Given the description of an element on the screen output the (x, y) to click on. 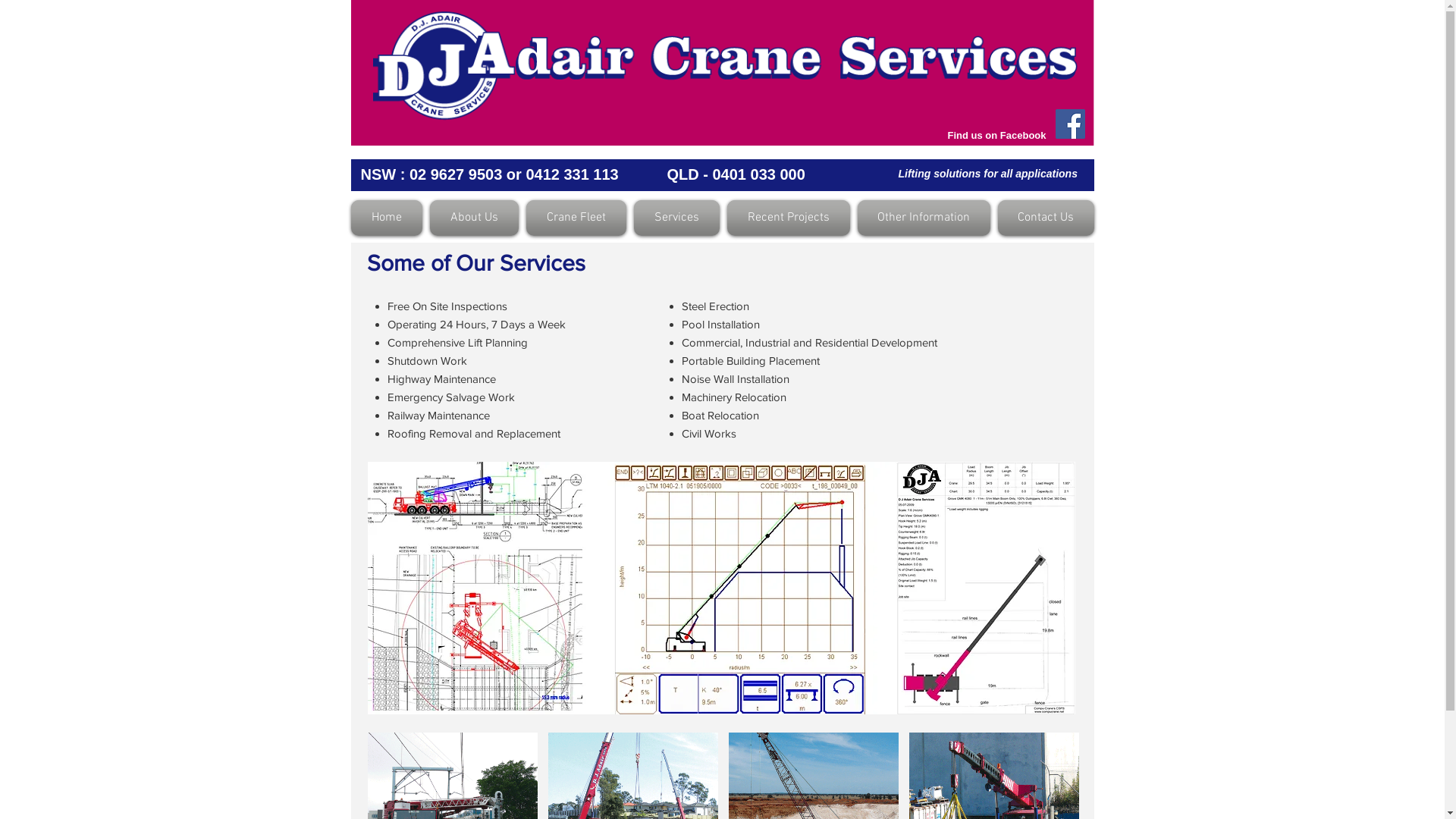
Services Element type: text (675, 217)
Crane Fleet Element type: text (575, 217)
Recent Projects Element type: text (788, 217)
Contact Us Element type: text (1043, 217)
Home Element type: text (387, 217)
Other Information Element type: text (923, 217)
About Us Element type: text (474, 217)
